Given the description of an element on the screen output the (x, y) to click on. 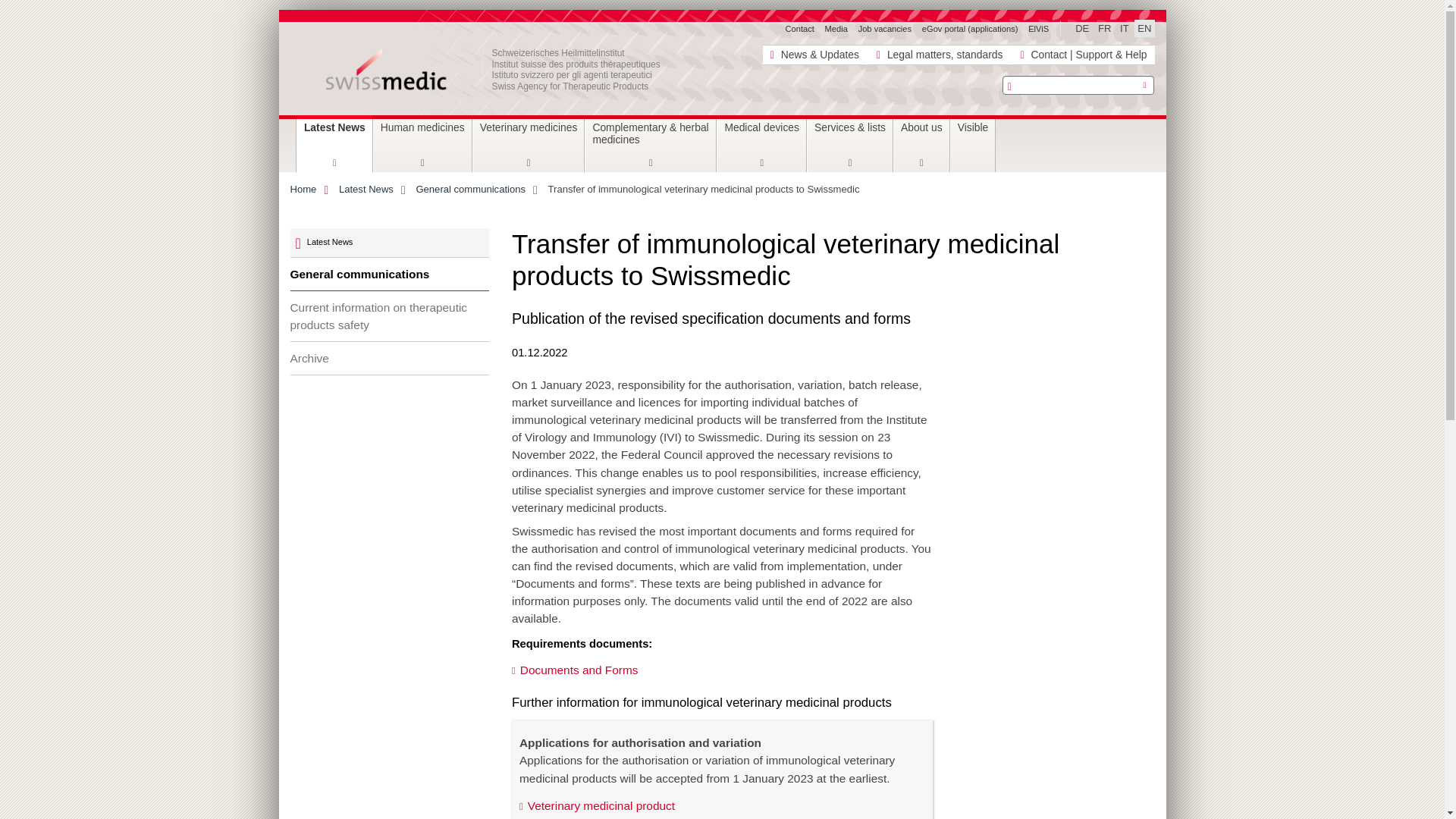
Media (836, 28)
Home (505, 69)
Contact (799, 28)
DE (1081, 27)
ElViS (1037, 28)
French (1103, 27)
English selected (1144, 27)
Job vacancies (885, 28)
Job vacancies (885, 28)
Legal matters, standards (938, 55)
